Given the description of an element on the screen output the (x, y) to click on. 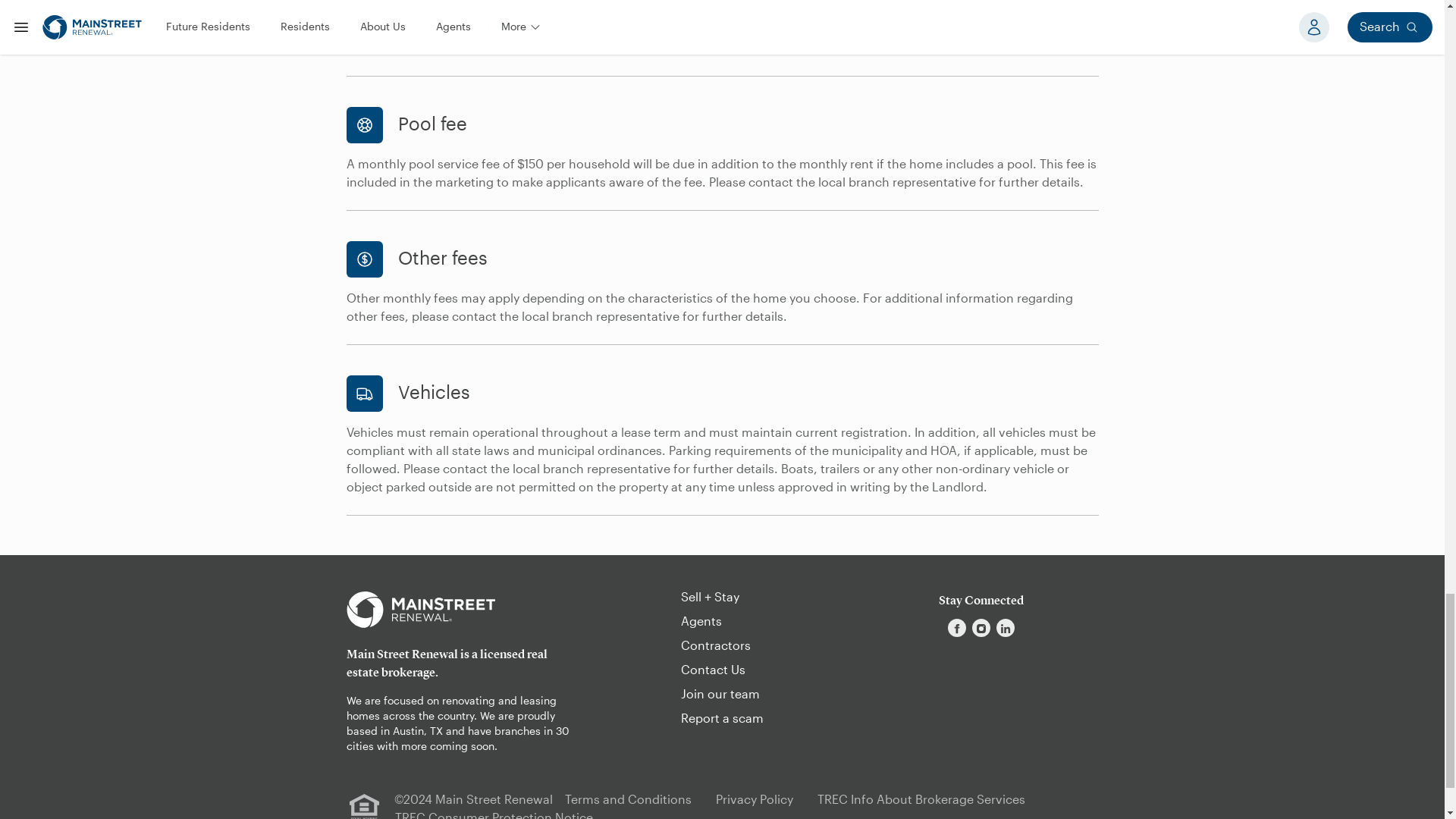
Contractors (716, 645)
Agents (701, 621)
Contact Us (713, 670)
Linkedin (1004, 628)
Join our team (720, 694)
Privacy Policy (754, 799)
Report a scam (721, 718)
Instagram (981, 628)
Terms and Conditions (627, 799)
MSR Logo (420, 609)
